Given the description of an element on the screen output the (x, y) to click on. 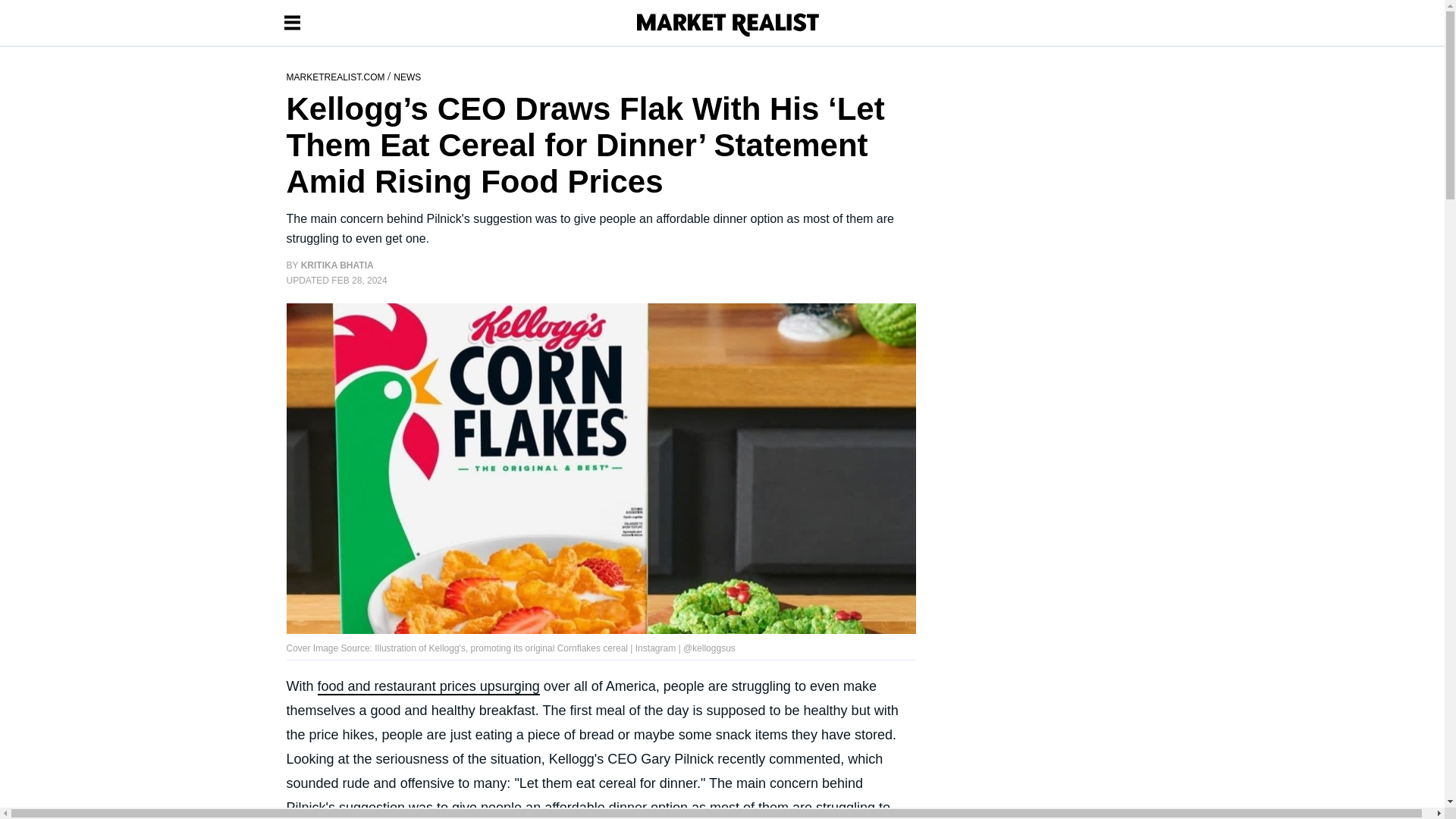
food and restaurant prices upsurging (428, 686)
MARKETREALIST.COM (336, 75)
NEWS (406, 75)
KRITIKA BHATIA (337, 265)
